Given the description of an element on the screen output the (x, y) to click on. 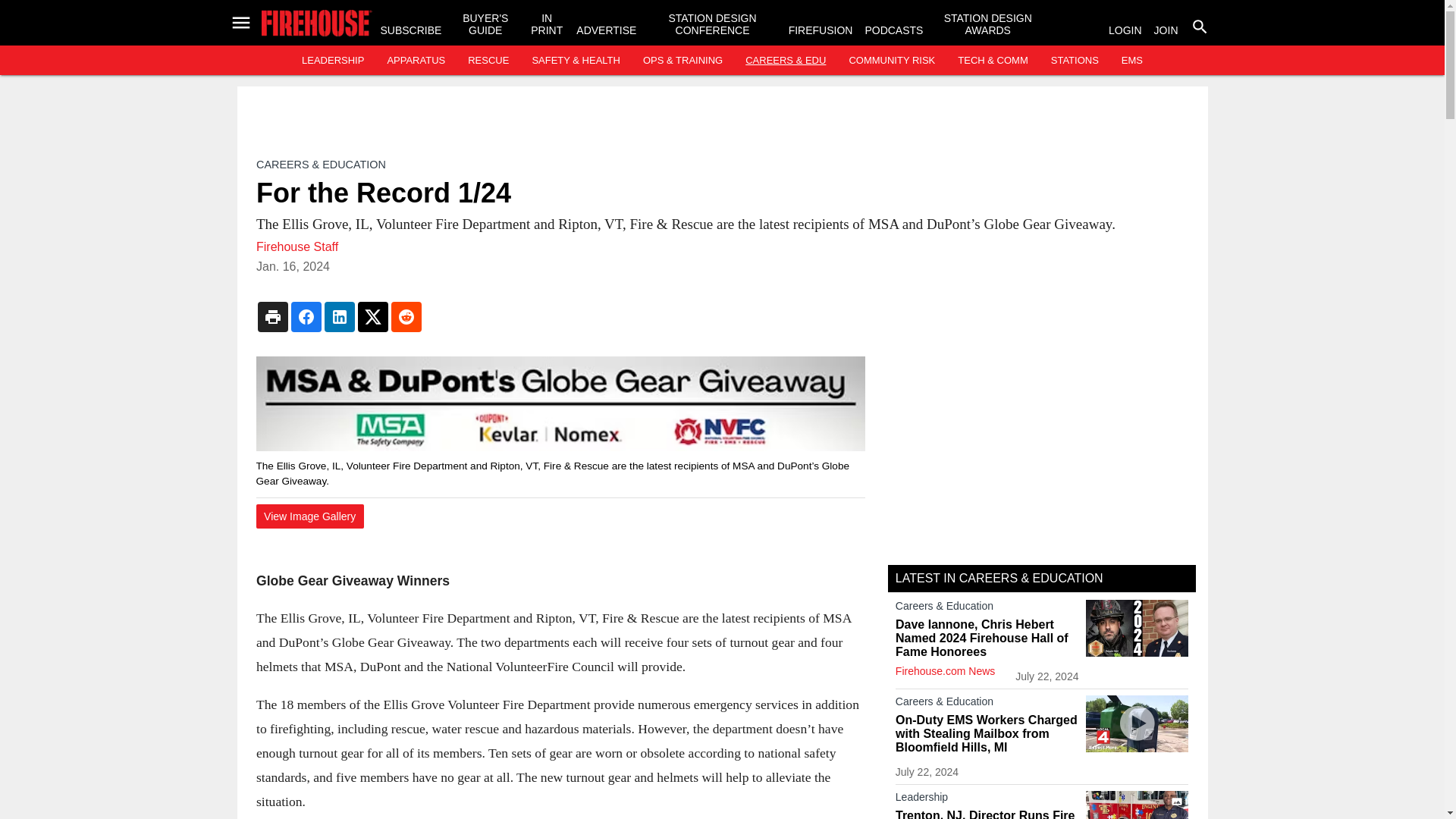
FIREFUSION (821, 30)
EMS (1131, 60)
RESCUE (487, 60)
JOIN (1165, 30)
LEADERSHIP (332, 60)
SUBSCRIBE (411, 30)
BUYER'S GUIDE (485, 24)
COMMUNITY RISK (891, 60)
ADVERTISE (606, 30)
STATION DESIGN CONFERENCE (711, 24)
LOGIN (1124, 30)
APPARATUS (416, 60)
STATION DESIGN AWARDS (987, 24)
IN PRINT (546, 24)
